Given the description of an element on the screen output the (x, y) to click on. 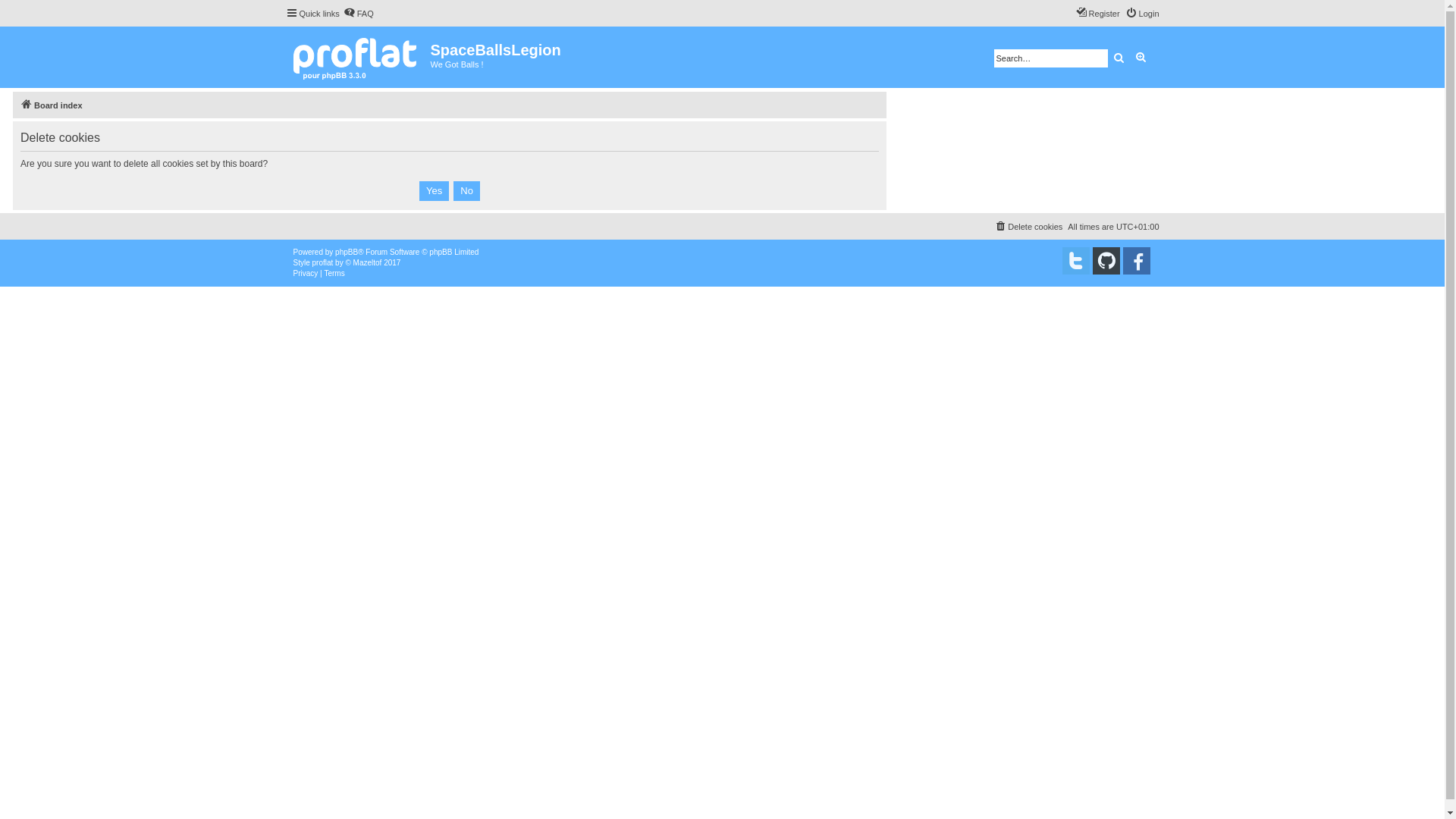
Privacy Element type: text (304, 273)
phpBB Element type: text (346, 252)
No Element type: text (466, 190)
Mazeltof Element type: text (367, 262)
Login Element type: text (1142, 13)
Yes Element type: text (433, 190)
Facebook Element type: hover (1135, 260)
Terms Element type: text (333, 273)
Board index Element type: text (51, 105)
Delete cookies Element type: text (1028, 226)
Search Element type: text (1118, 58)
Board index Element type: hover (357, 57)
proflat Element type: text (322, 262)
Register Element type: text (1097, 13)
FAQ Element type: text (358, 13)
Quick links Element type: text (311, 13)
Advanced search Element type: text (1140, 58)
Github Element type: hover (1105, 260)
Search for keywords Element type: hover (1050, 58)
Twitter Element type: hover (1074, 260)
